Given the description of an element on the screen output the (x, y) to click on. 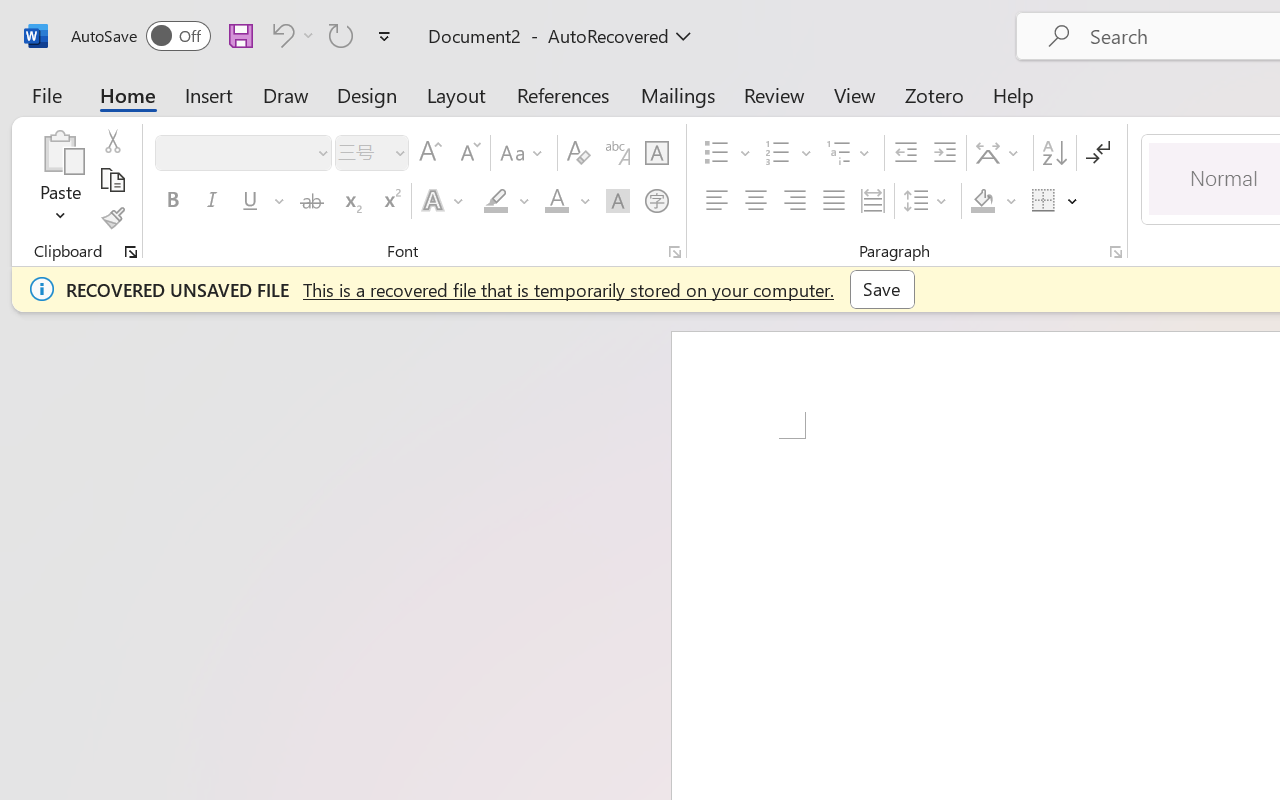
Show/Hide Editing Marks (1098, 153)
Enclose Characters... (656, 201)
Strikethrough (312, 201)
Open (399, 152)
Font Color (567, 201)
Font... (675, 252)
Grow Font (430, 153)
Subscript (350, 201)
Multilevel List (850, 153)
